Given the description of an element on the screen output the (x, y) to click on. 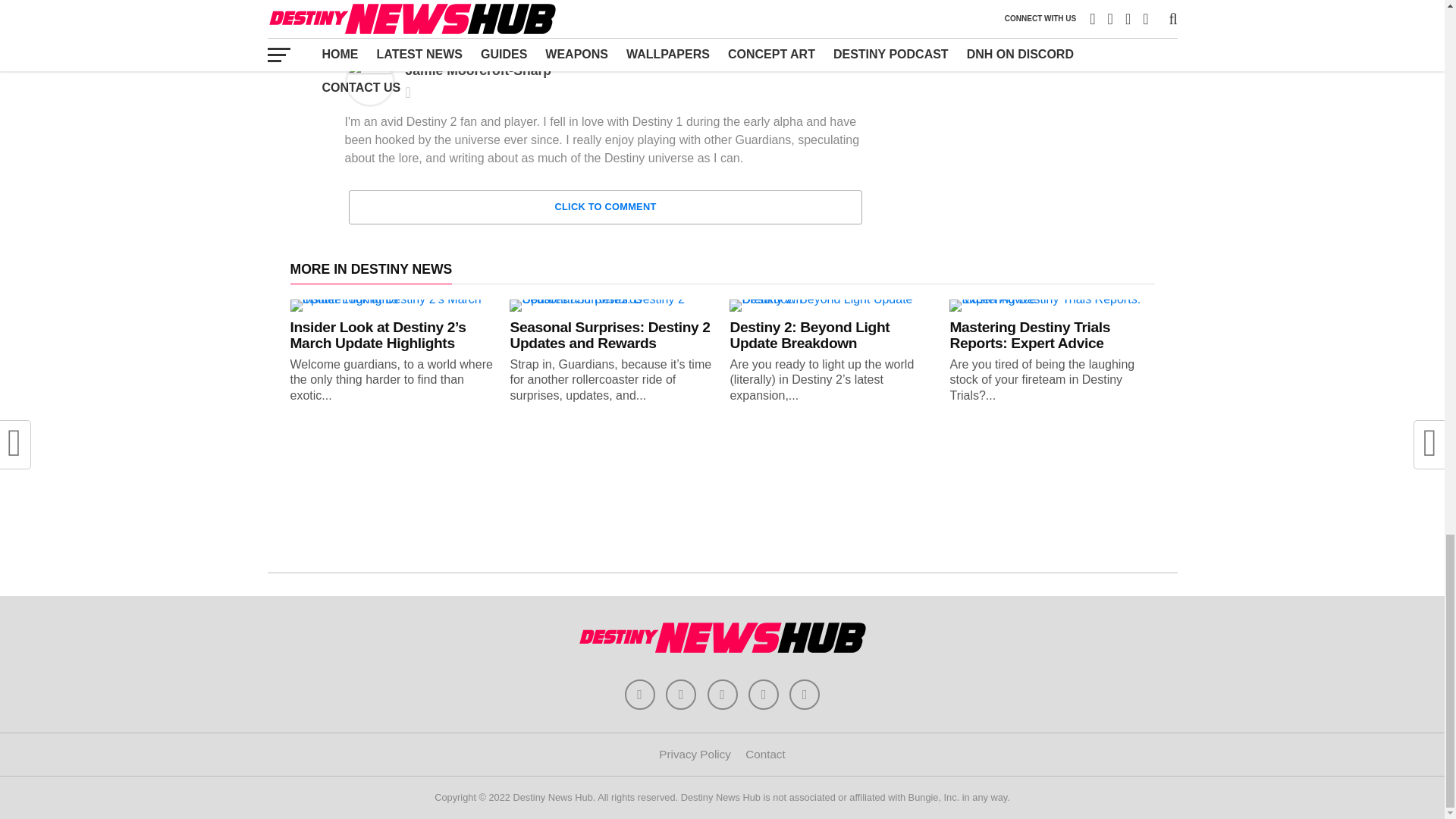
Posts by Jamie Moorcroft-Sharp (477, 70)
